Given the description of an element on the screen output the (x, y) to click on. 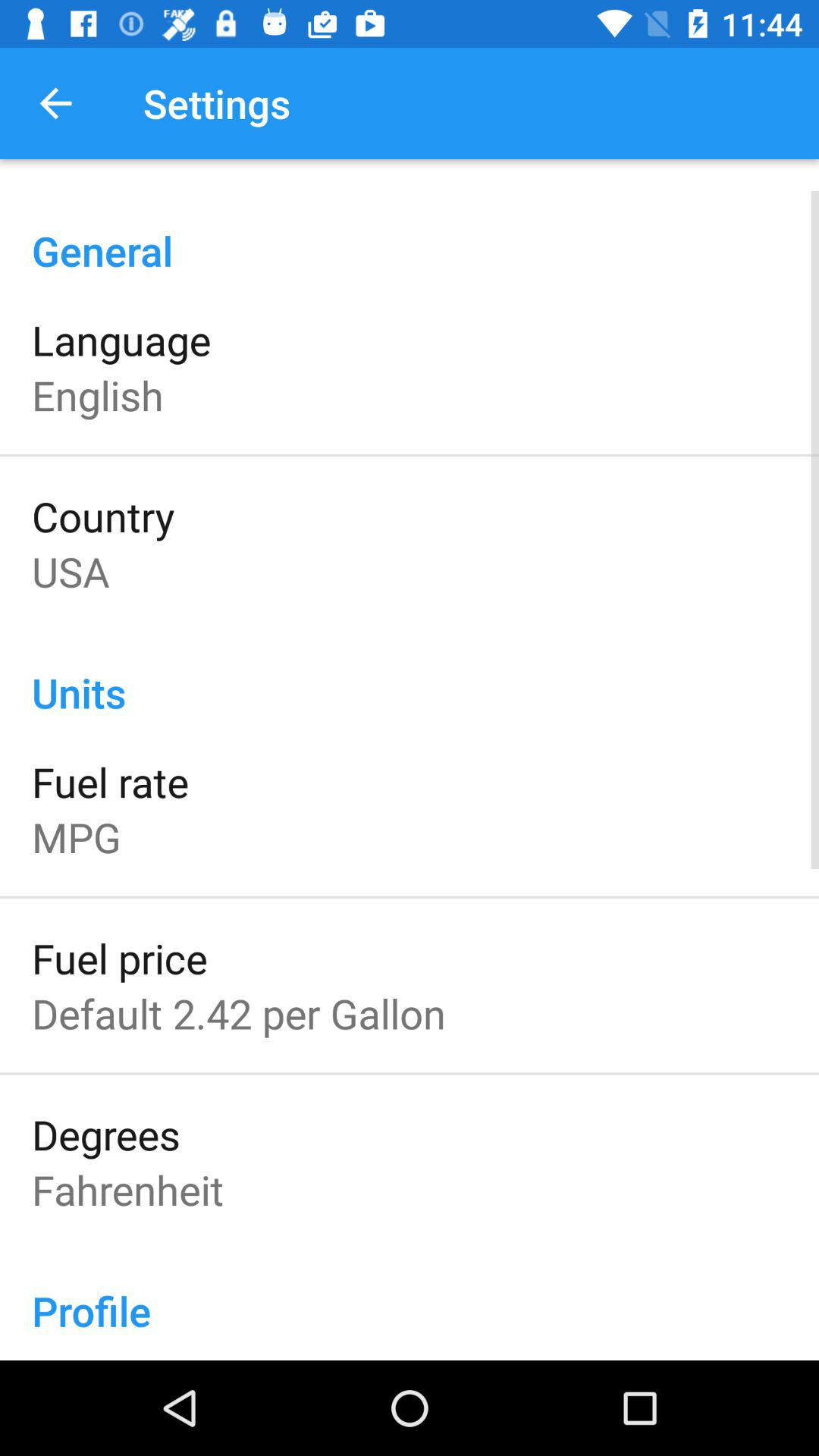
open the general icon (409, 234)
